Given the description of an element on the screen output the (x, y) to click on. 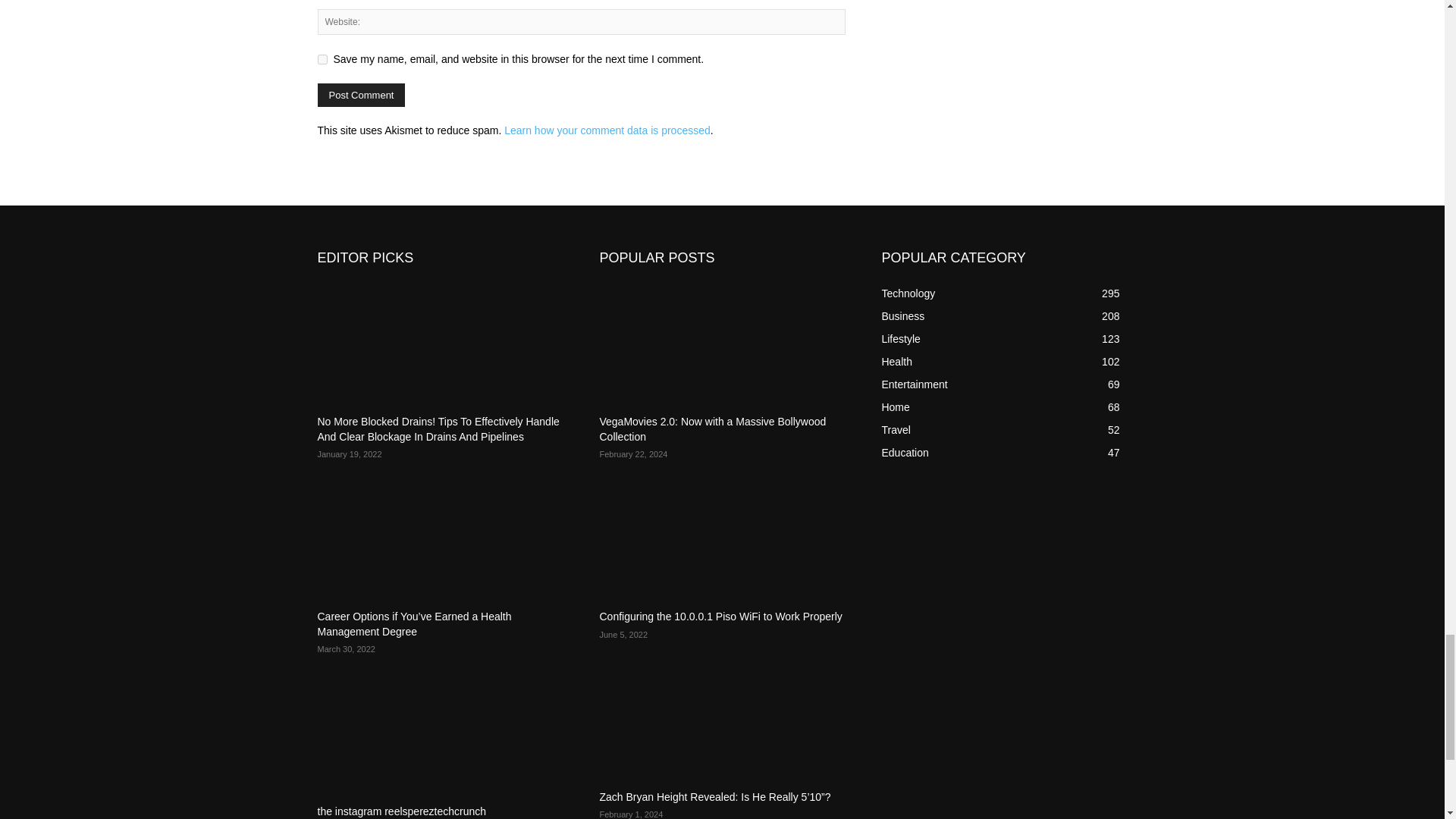
Post Comment (360, 95)
yes (321, 59)
